Given the description of an element on the screen output the (x, y) to click on. 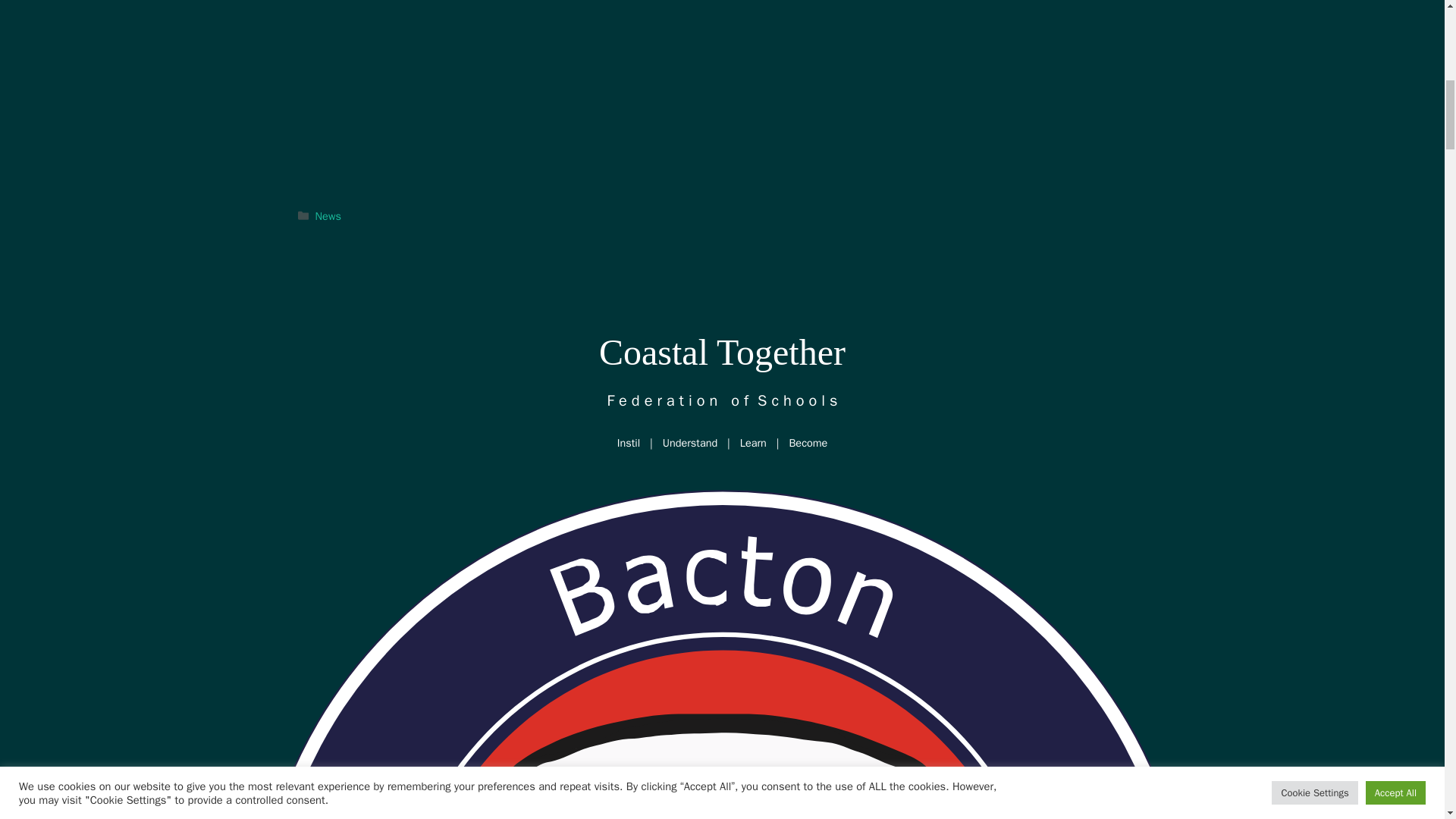
News (327, 215)
Scroll back to top (1406, 720)
Coastal Together (721, 352)
